Given the description of an element on the screen output the (x, y) to click on. 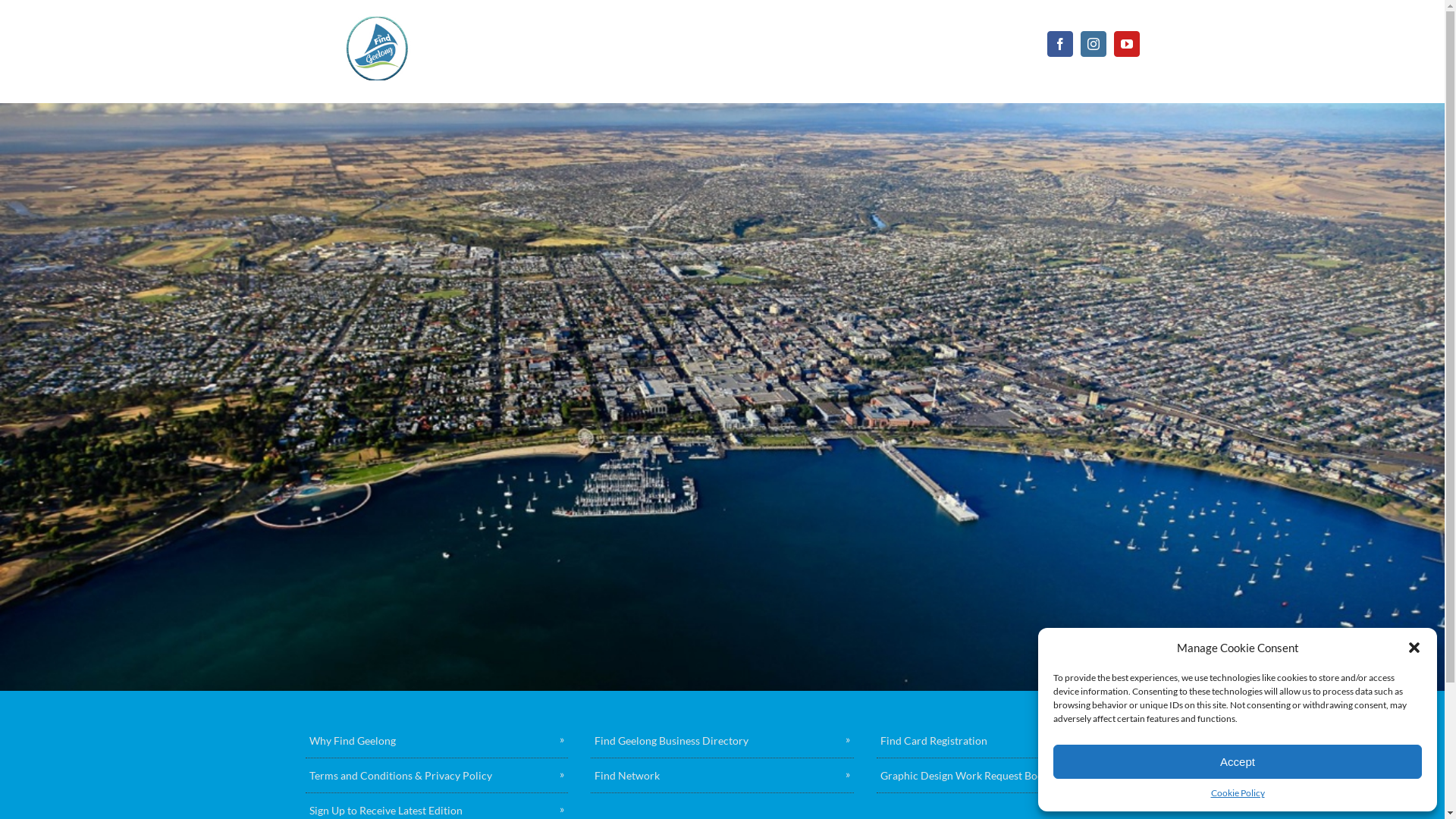
Why Find Geelong Element type: text (435, 740)
Find Geelong Business Directory Element type: text (721, 740)
Graphic Design Work Request Booking Form Element type: text (1007, 775)
Cookie Policy Element type: text (1237, 793)
Accept Element type: text (1237, 761)
Find Network Element type: text (721, 775)
Terms and Conditions & Privacy Policy Element type: text (435, 775)
Find Card Registration Element type: text (1007, 740)
